Given the description of an element on the screen output the (x, y) to click on. 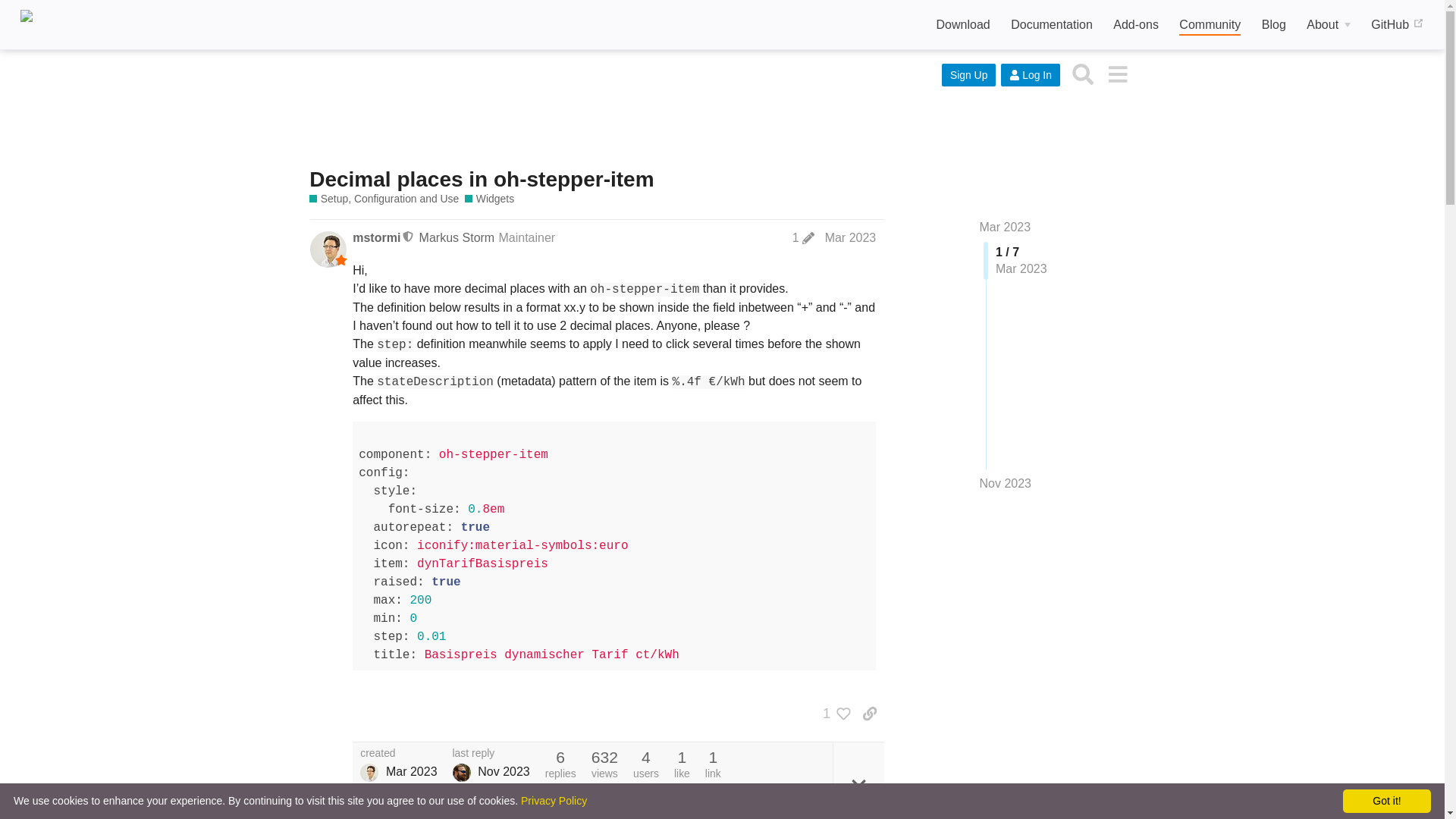
menu (1117, 73)
Documentation (1051, 25)
mstormi (376, 238)
Mar 2023 (1004, 226)
Jump to the last post (1005, 482)
Community (1209, 25)
This user is a moderator (408, 236)
Widgets (488, 198)
Mar 2023 (850, 237)
Search (1082, 73)
Post date (850, 237)
Decimal places in oh-stepper-item (480, 178)
1 (832, 713)
Mar 2, 2023 9:07 pm (411, 771)
1 person liked this post (832, 713)
